Given the description of an element on the screen output the (x, y) to click on. 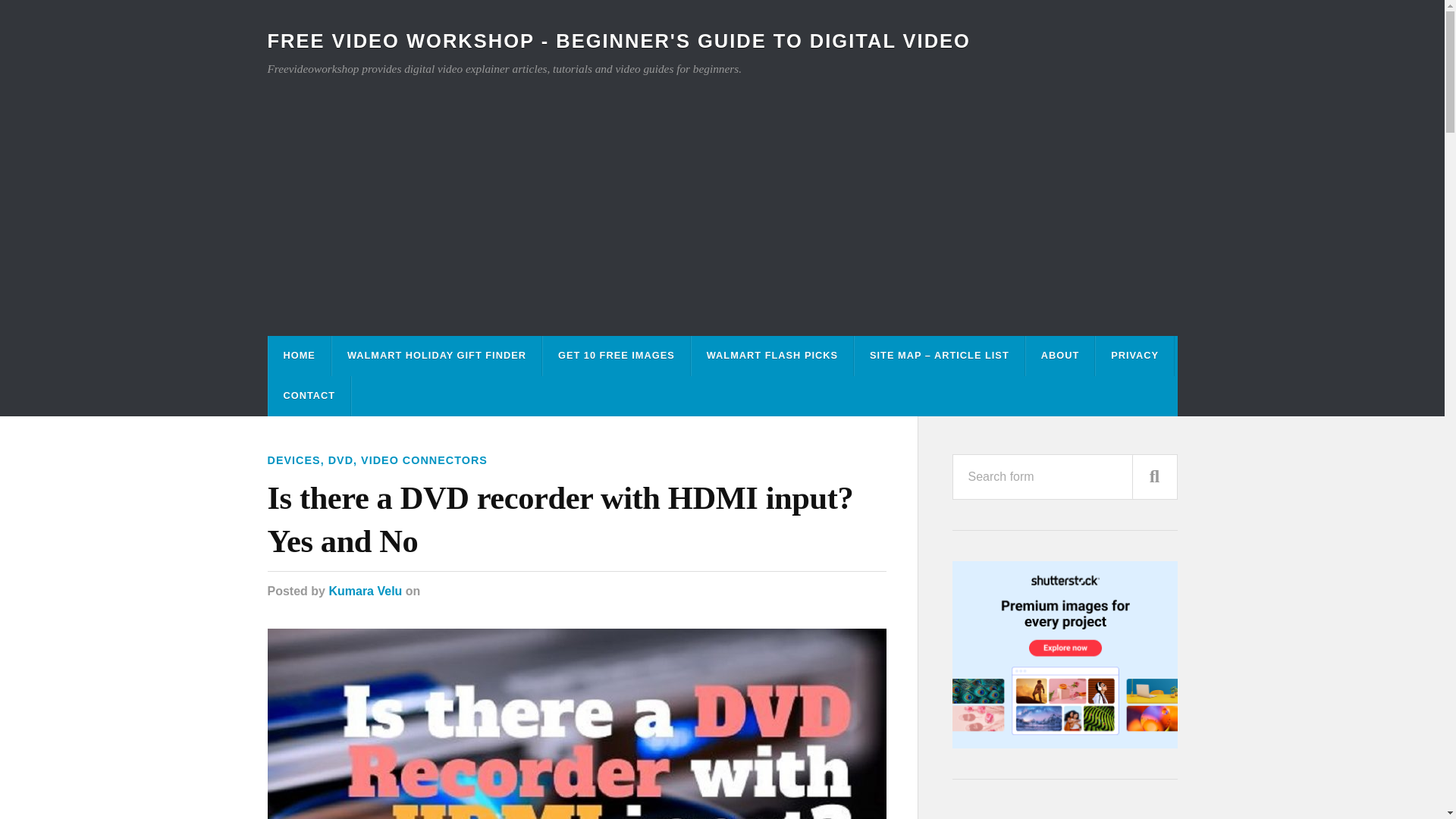
VIDEO CONNECTORS (424, 460)
GET 10 FREE IMAGES (616, 355)
FREE VIDEO WORKSHOP - BEGINNER'S GUIDE TO DIGITAL VIDEO (617, 40)
CONTACT (308, 395)
DVD (341, 460)
DEVICES (293, 460)
Kumara Velu (365, 590)
WALMART FLASH PICKS (772, 355)
PRIVACY (1134, 355)
ABOUT (1060, 355)
HOME (298, 355)
WALMART HOLIDAY GIFT FINDER (436, 355)
